Given the description of an element on the screen output the (x, y) to click on. 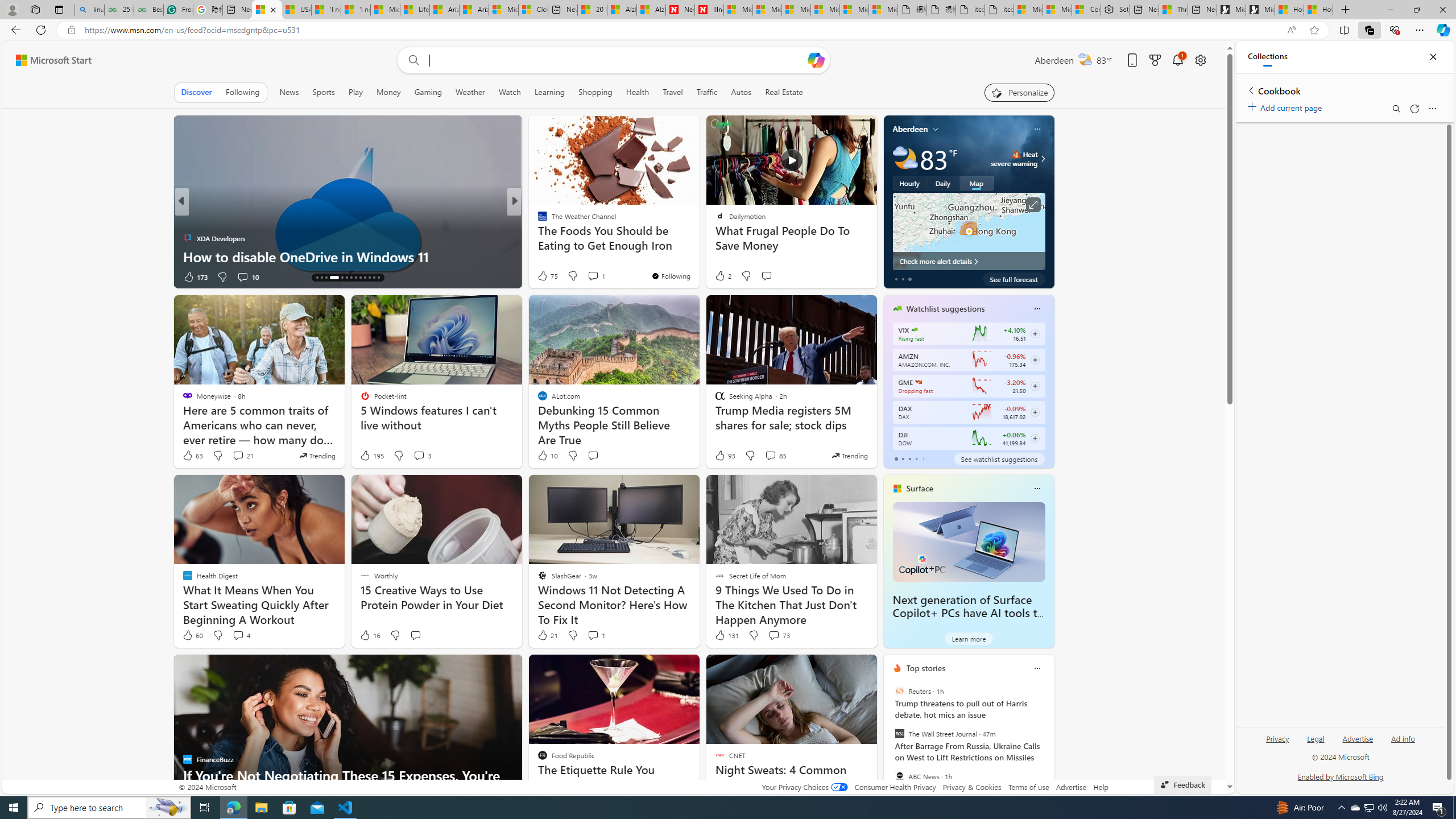
Discover Magazine (537, 219)
View comments 85 Comment (775, 455)
CBOE Market Volatility Index (914, 329)
XDA Developers (187, 238)
AutomationID: tab-19 (346, 277)
20 Ways to Boost Your Protein Intake at Every Meal (591, 9)
